Given the description of an element on the screen output the (x, y) to click on. 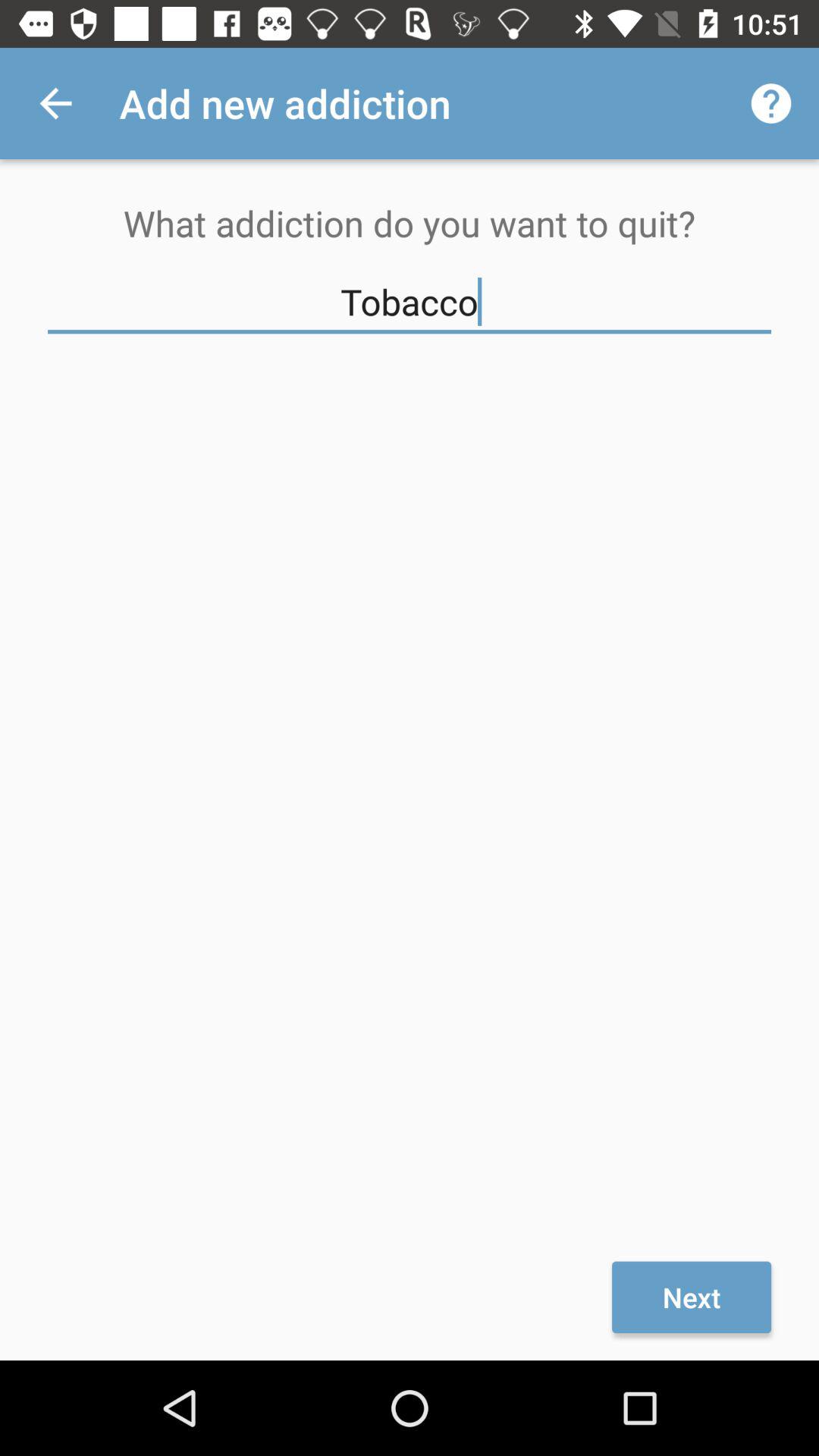
launch icon below the tobacco (691, 1297)
